Given the description of an element on the screen output the (x, y) to click on. 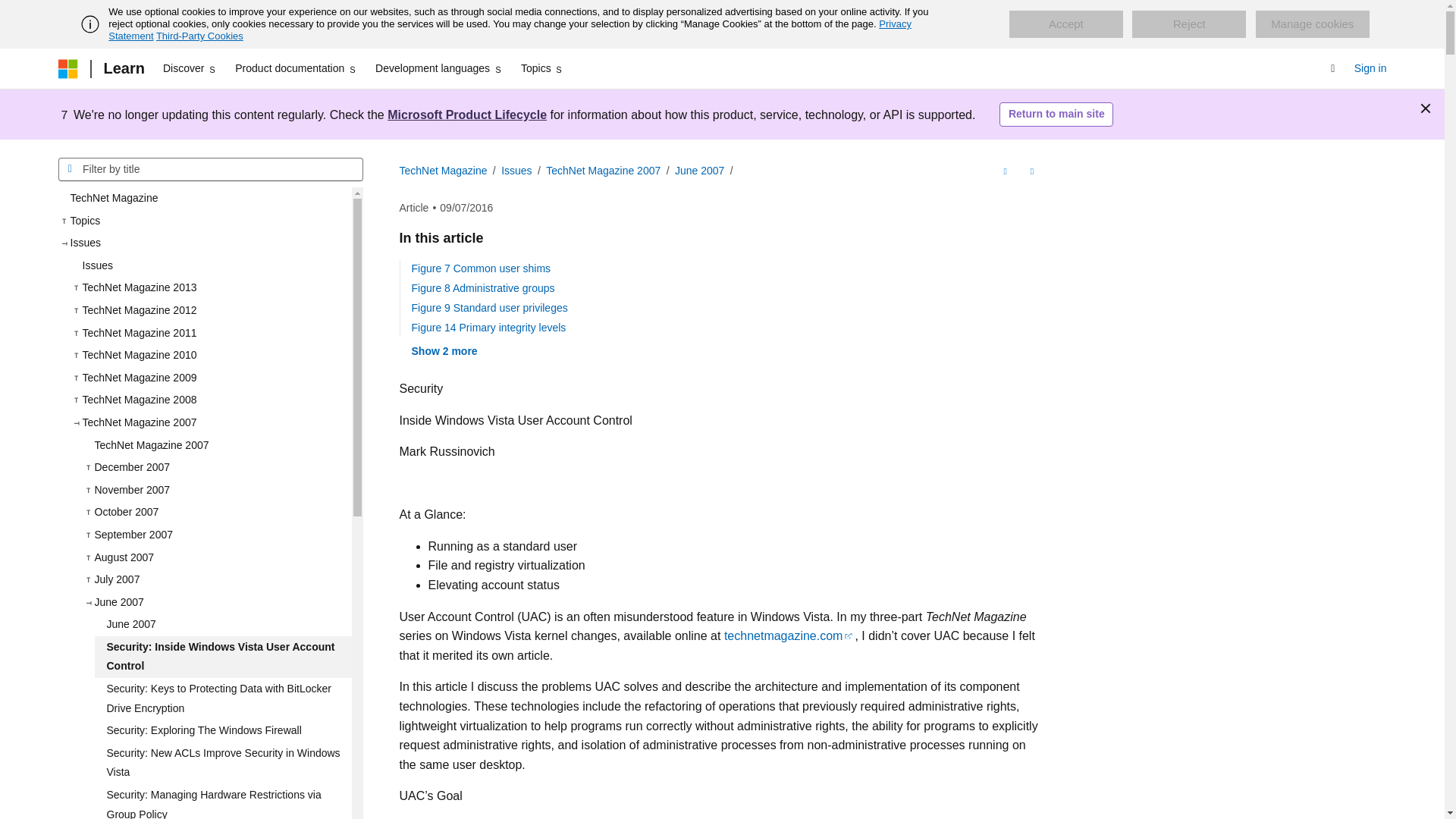
Product documentation (295, 68)
Return to main site (1055, 114)
Skip to main content (11, 11)
Security: Exploring The Windows Firewall (222, 730)
Manage cookies (1312, 23)
Learn (123, 68)
Sign in (1370, 68)
TechNet Magazine 2007 (215, 445)
Discover (189, 68)
Issues (209, 265)
